Given the description of an element on the screen output the (x, y) to click on. 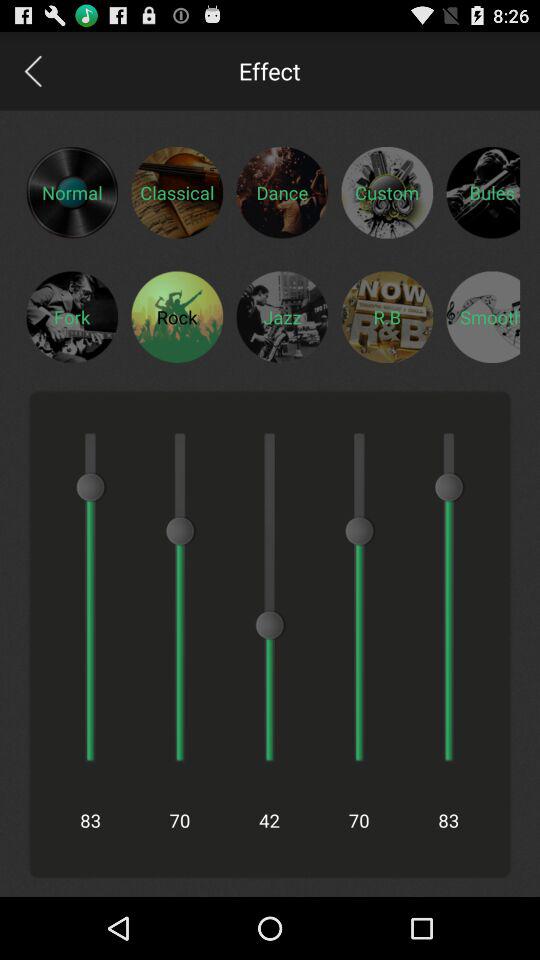
category selection (483, 191)
